Given the description of an element on the screen output the (x, y) to click on. 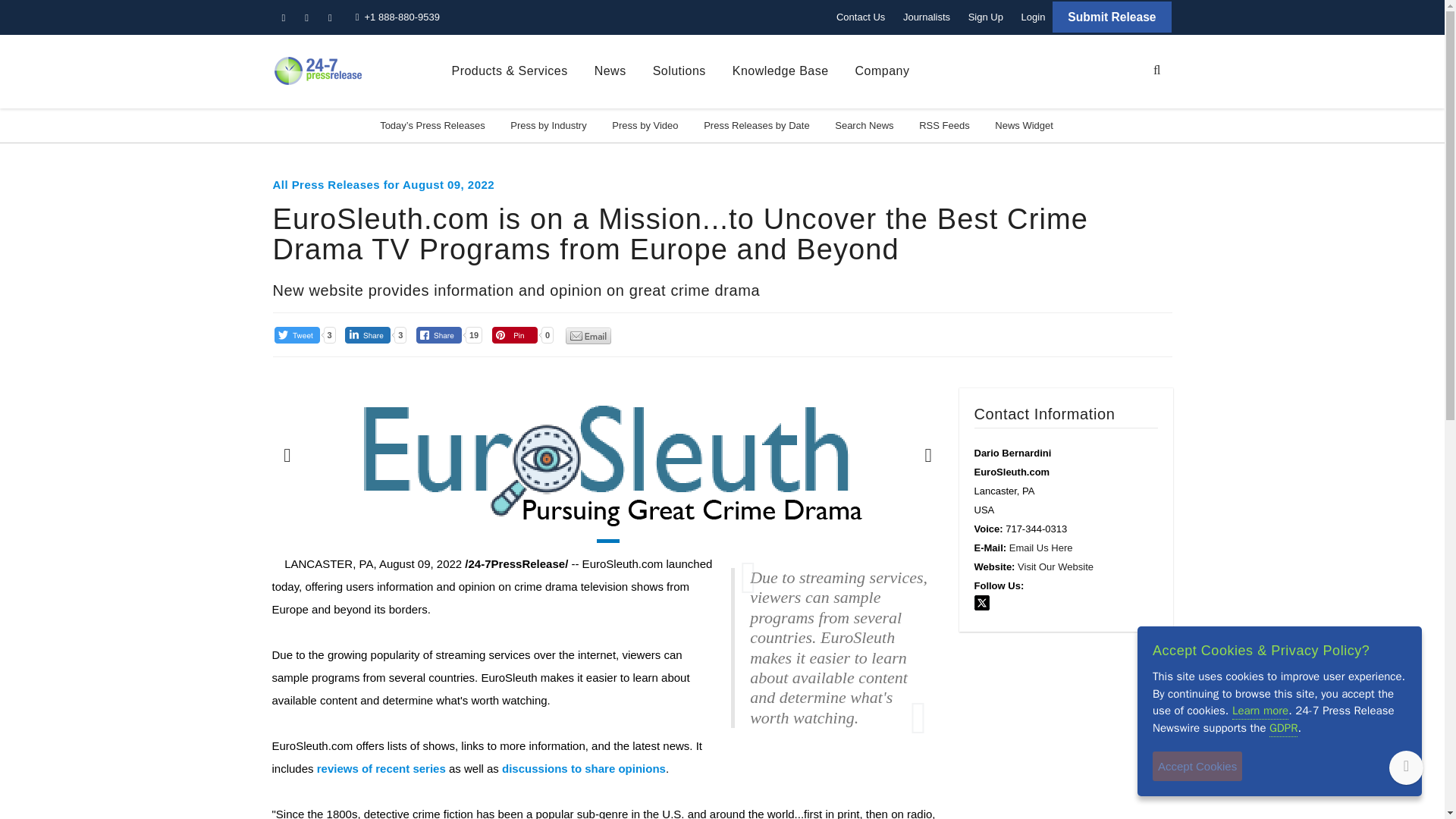
Knowledge Base (780, 71)
Submit Release (1111, 16)
Sign Up (985, 16)
Company (882, 71)
Solutions (679, 71)
Login (1032, 16)
Journalists (926, 16)
Contact Us (860, 16)
